Given the description of an element on the screen output the (x, y) to click on. 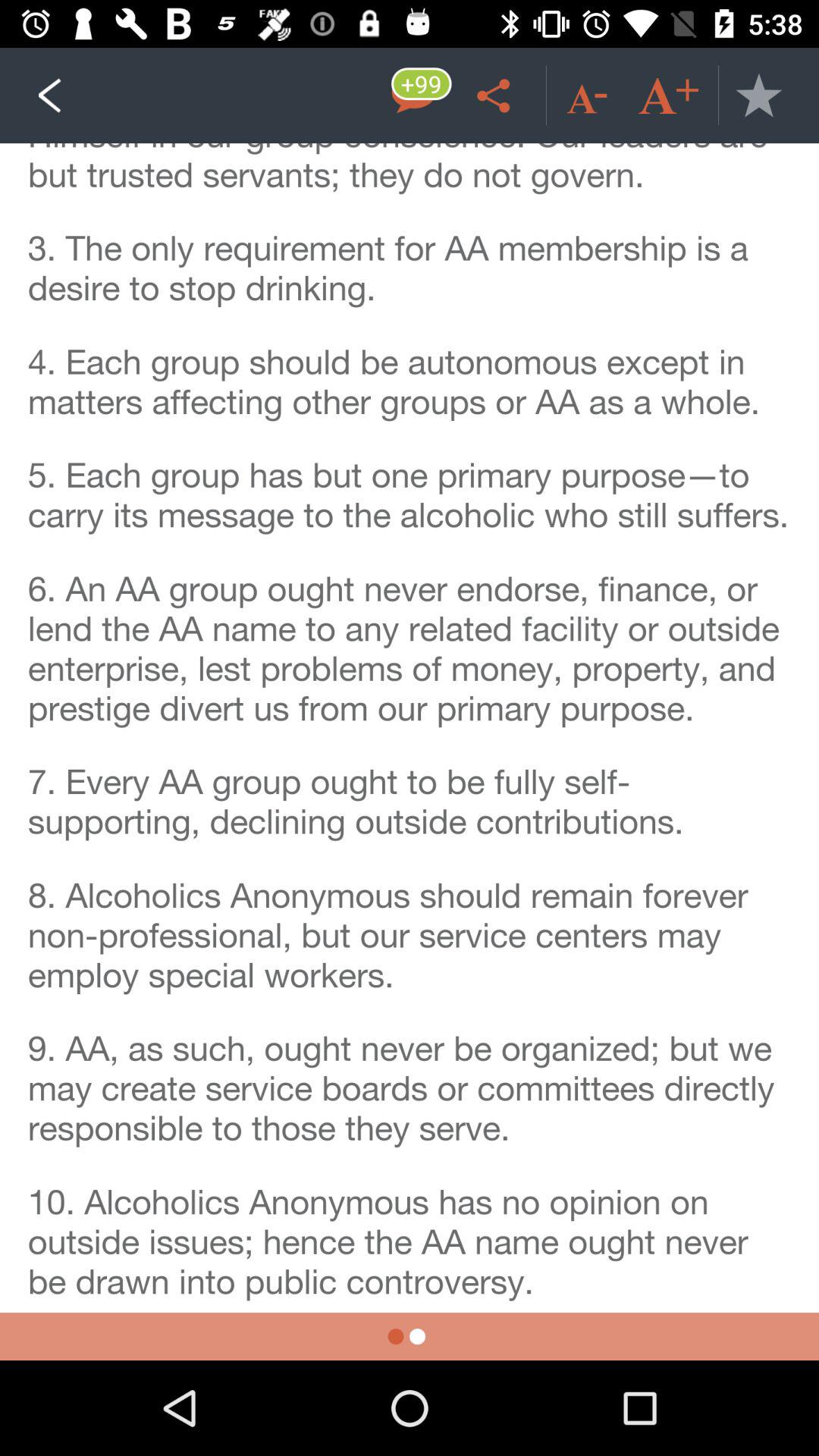
go to messege option (413, 95)
